Given the description of an element on the screen output the (x, y) to click on. 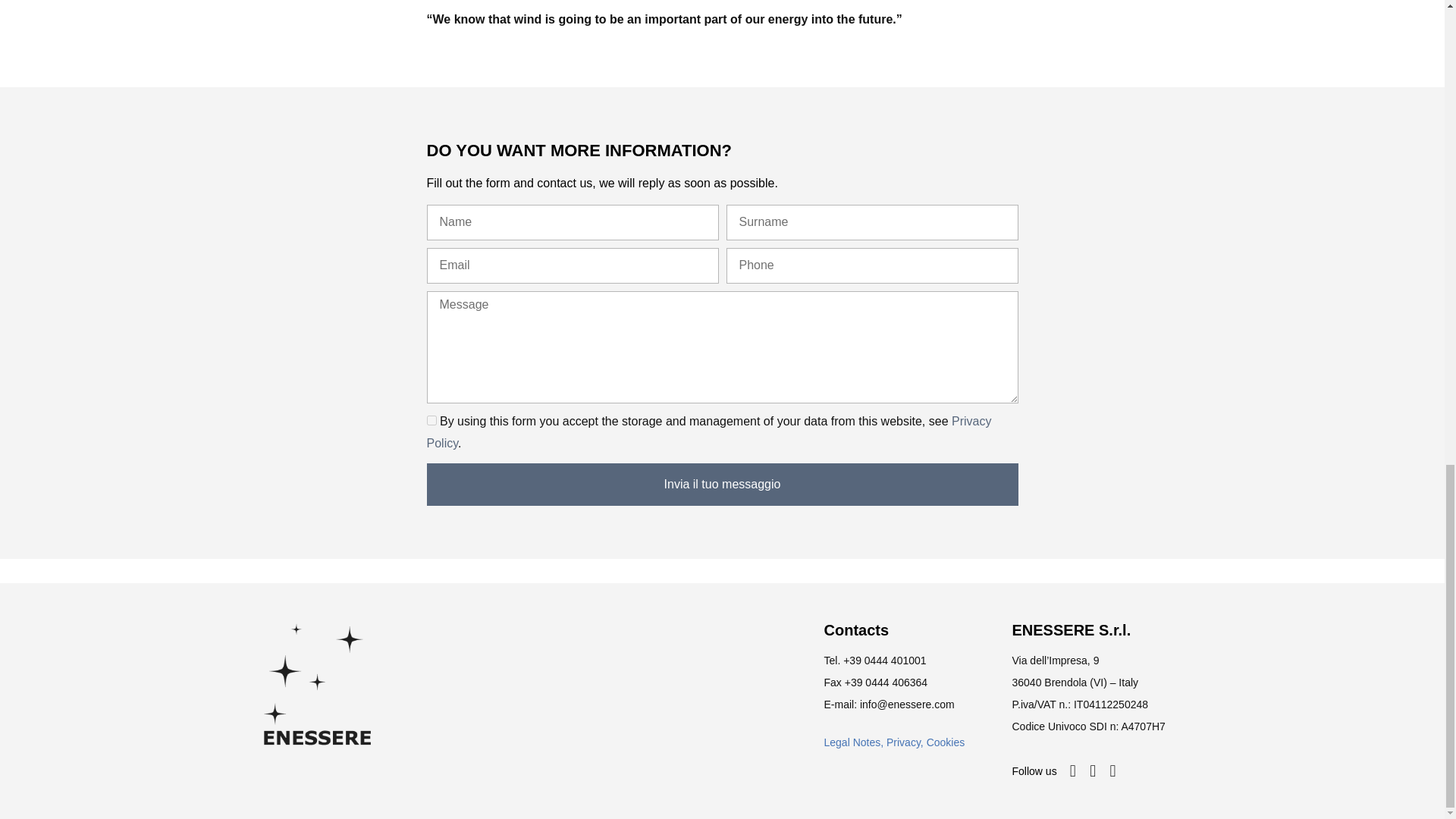
Privacy Policy (708, 431)
on (430, 420)
Legal Notes, Privacy, Cookies (893, 742)
Invia il tuo messaggio (721, 484)
